Given the description of an element on the screen output the (x, y) to click on. 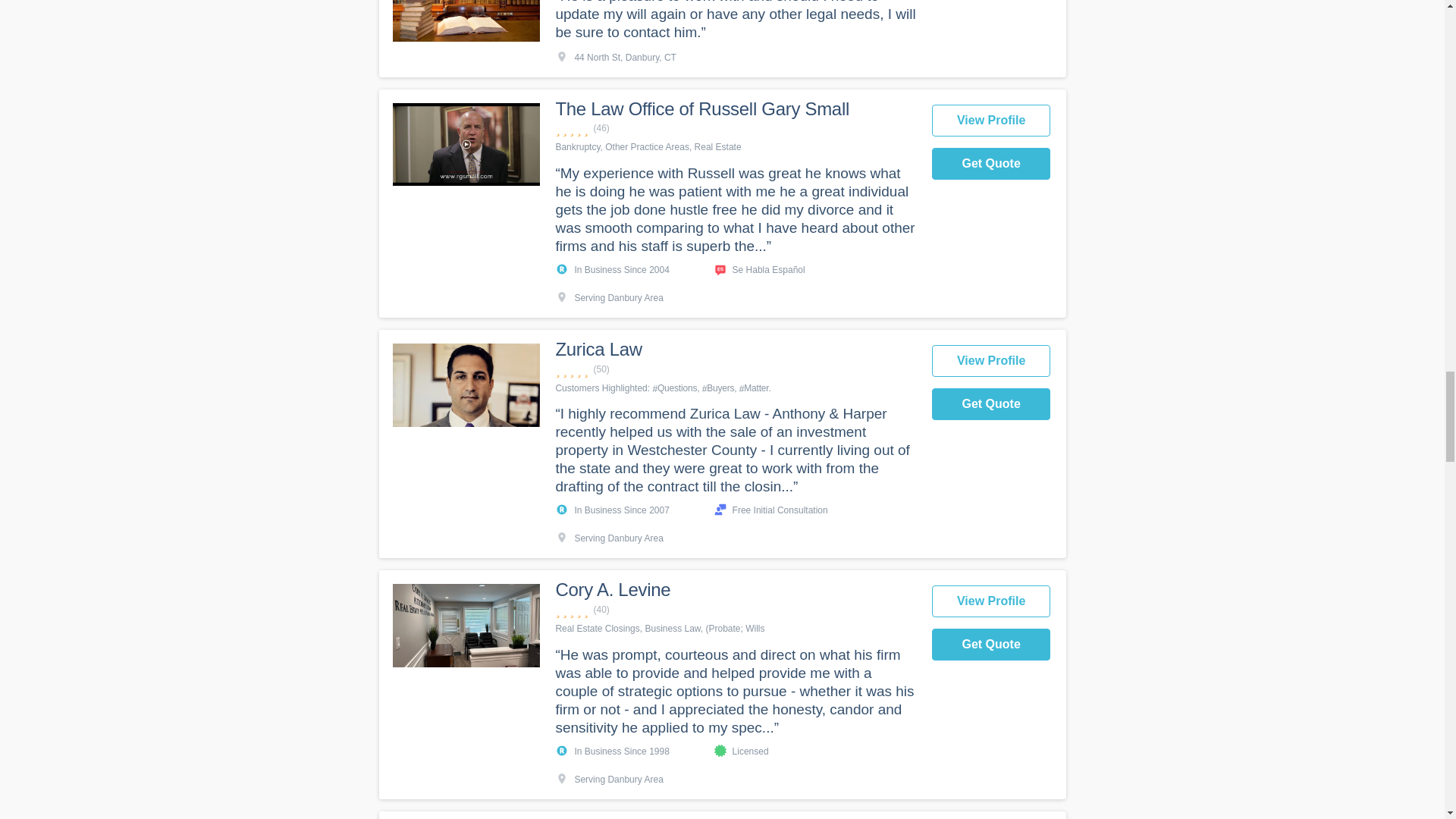
5.0 (734, 369)
5.0 (734, 609)
4.8 (734, 128)
